Given the description of an element on the screen output the (x, y) to click on. 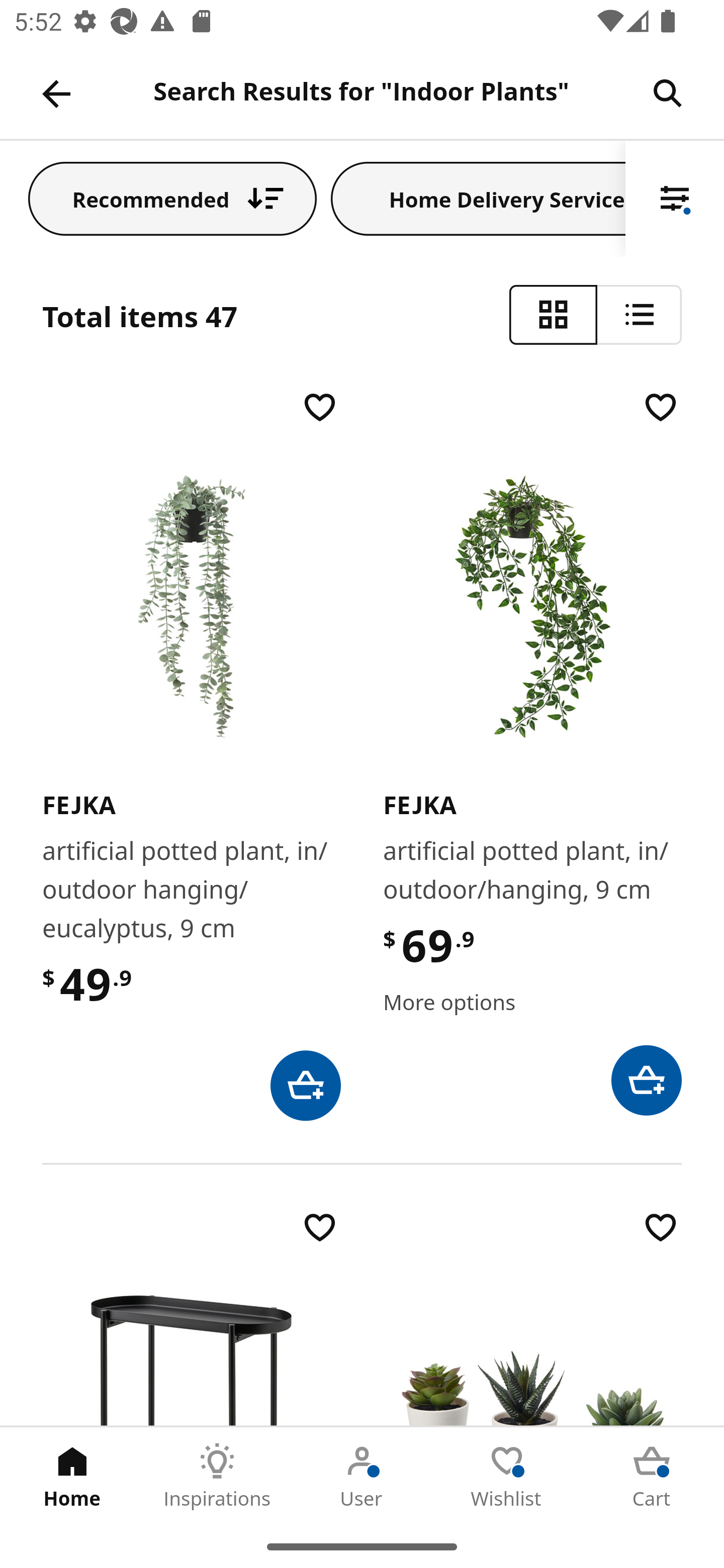
Recommended (172, 198)
Home Delivery Service - Macau (477, 198)
Home
Tab 1 of 5 (72, 1476)
Inspirations
Tab 2 of 5 (216, 1476)
User
Tab 3 of 5 (361, 1476)
